Given the description of an element on the screen output the (x, y) to click on. 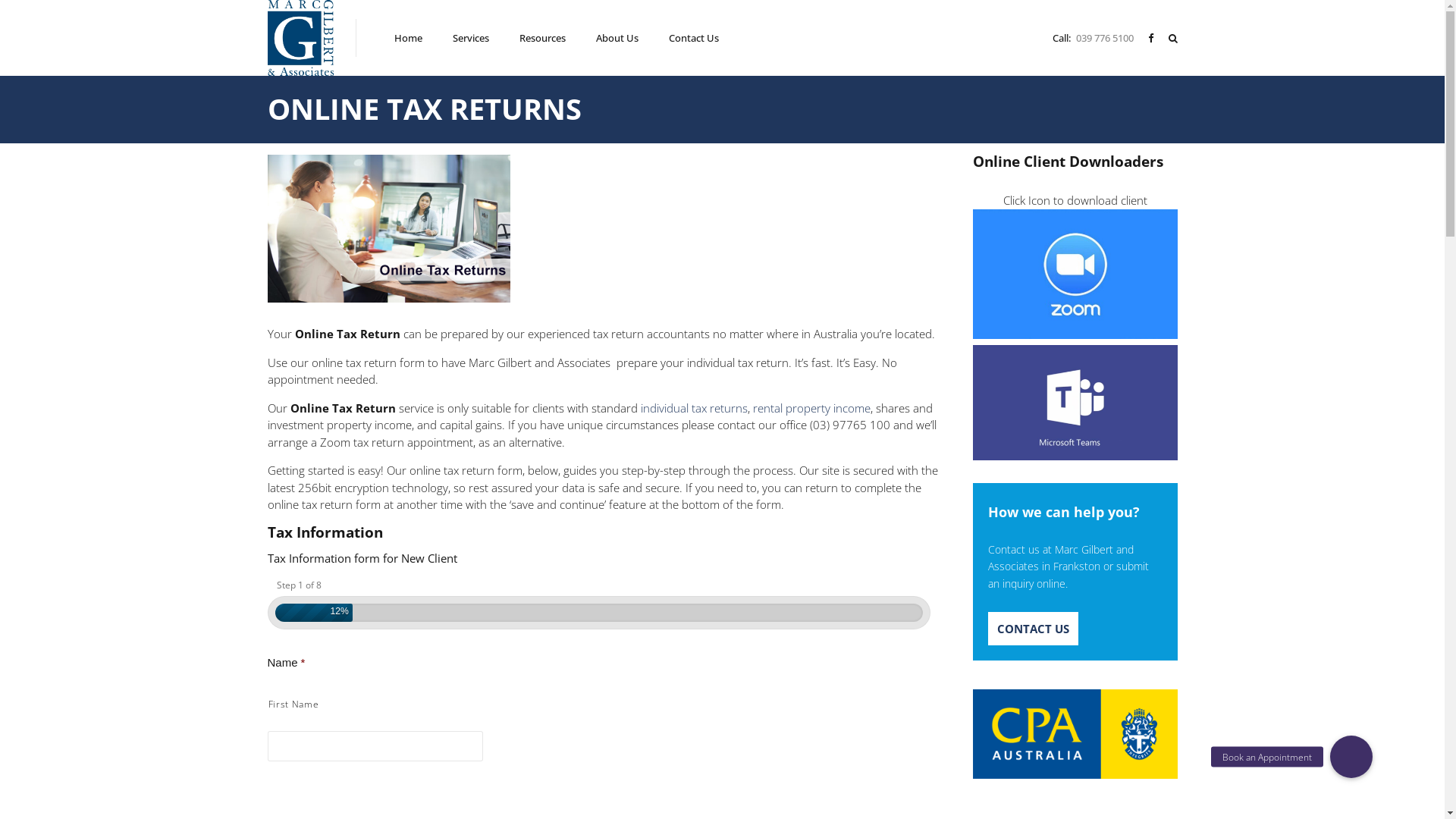
Resources Element type: text (542, 37)
Services Element type: text (470, 37)
Personal Tax Element type: text (528, 583)
Useful Links Element type: text (291, 583)
Computers Unleashed Element type: text (841, 785)
About Us Element type: text (617, 37)
Company Tax Element type: text (529, 624)
Call:039 776 5100 Element type: text (1095, 37)
Book an Appointment Element type: text (1351, 756)
Business Tax Element type: text (528, 603)
Teams Element type: hover (1074, 402)
individual tax returns Element type: text (693, 407)
OnlineReturns Element type: hover (387, 228)
Business Development Element type: text (550, 727)
Contact Us Element type: text (693, 37)
Marc Gilbert & Ass small Element type: hover (334, 408)
IT Services Element type: text (524, 686)
Home Element type: text (408, 37)
CPA_Australia_Logo-700x306 Element type: hover (1074, 733)
Self Managed Super Funds Element type: text (556, 665)
CONTACT US Element type: text (1032, 628)
Zoom Element type: hover (1074, 274)
Bookkeeping Element type: text (528, 706)
Marc Gilbert and Associates Element type: text (679, 785)
Financial Planning Element type: text (538, 645)
rental property income Element type: text (810, 407)
